Given the description of an element on the screen output the (x, y) to click on. 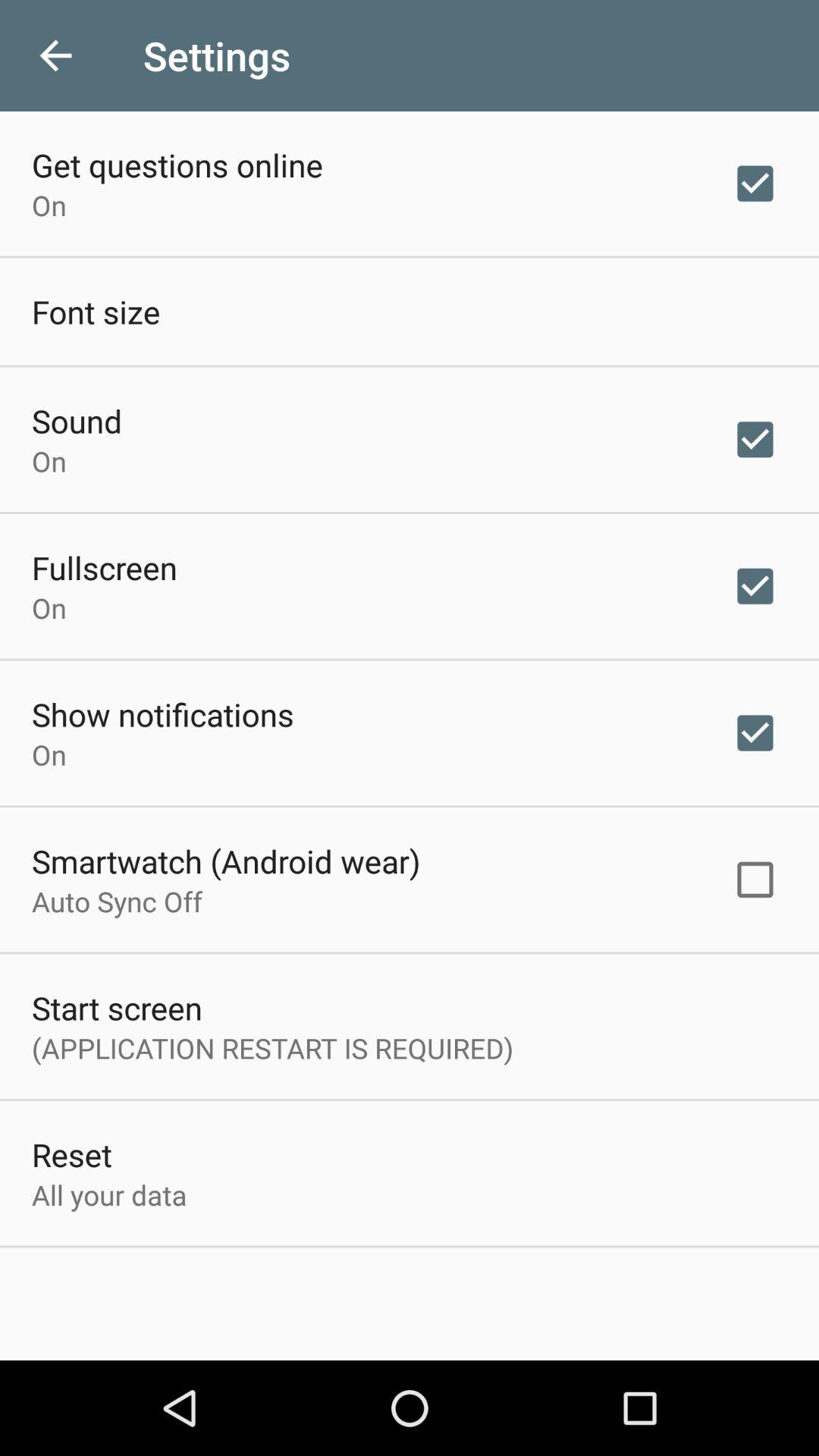
jump until application restart is (272, 1047)
